Given the description of an element on the screen output the (x, y) to click on. 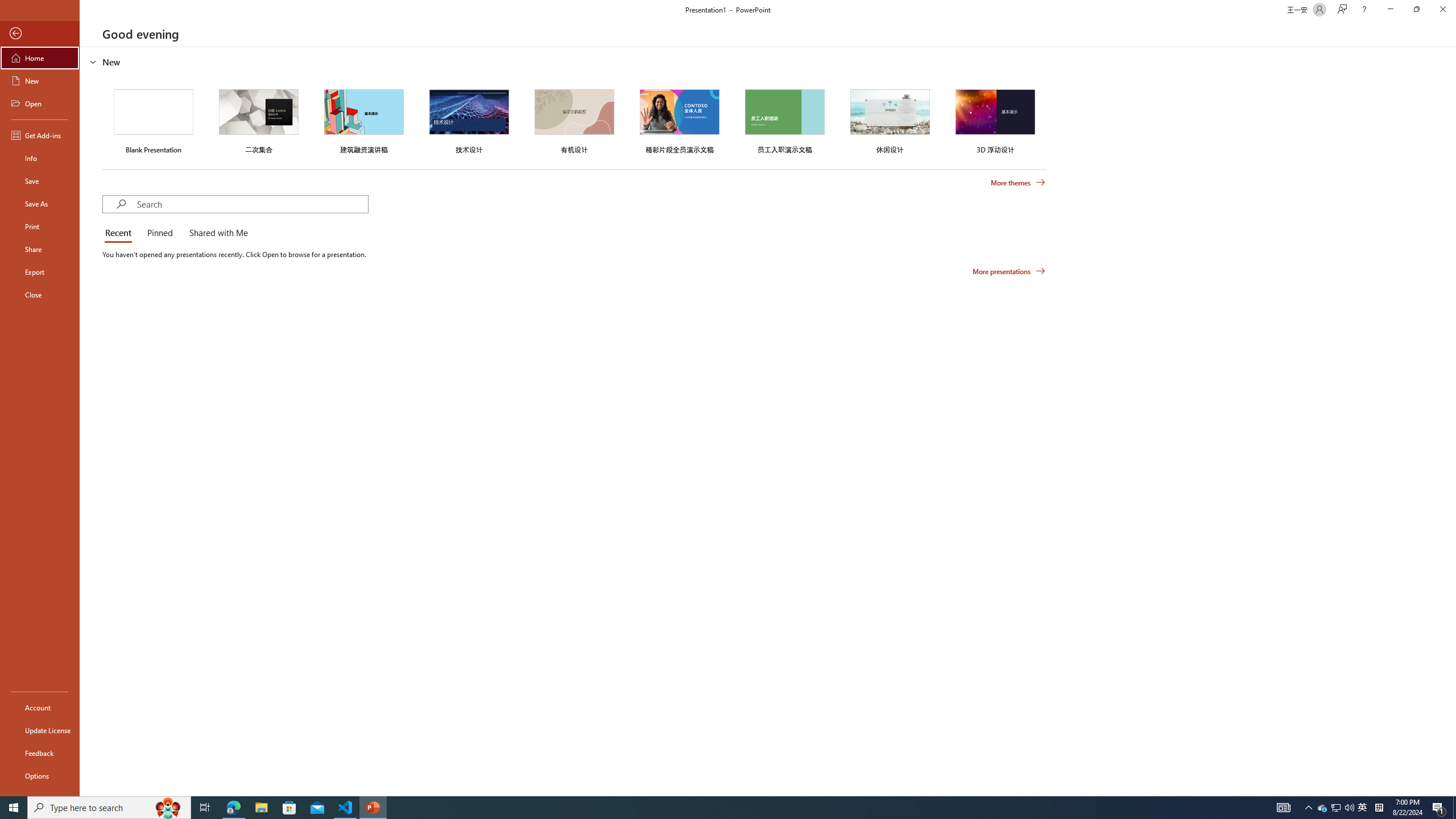
Class: NetUIScrollBar (1450, 421)
Update License (40, 730)
Save As (40, 203)
More presentations (1008, 270)
Blank Presentation (153, 119)
